Given the description of an element on the screen output the (x, y) to click on. 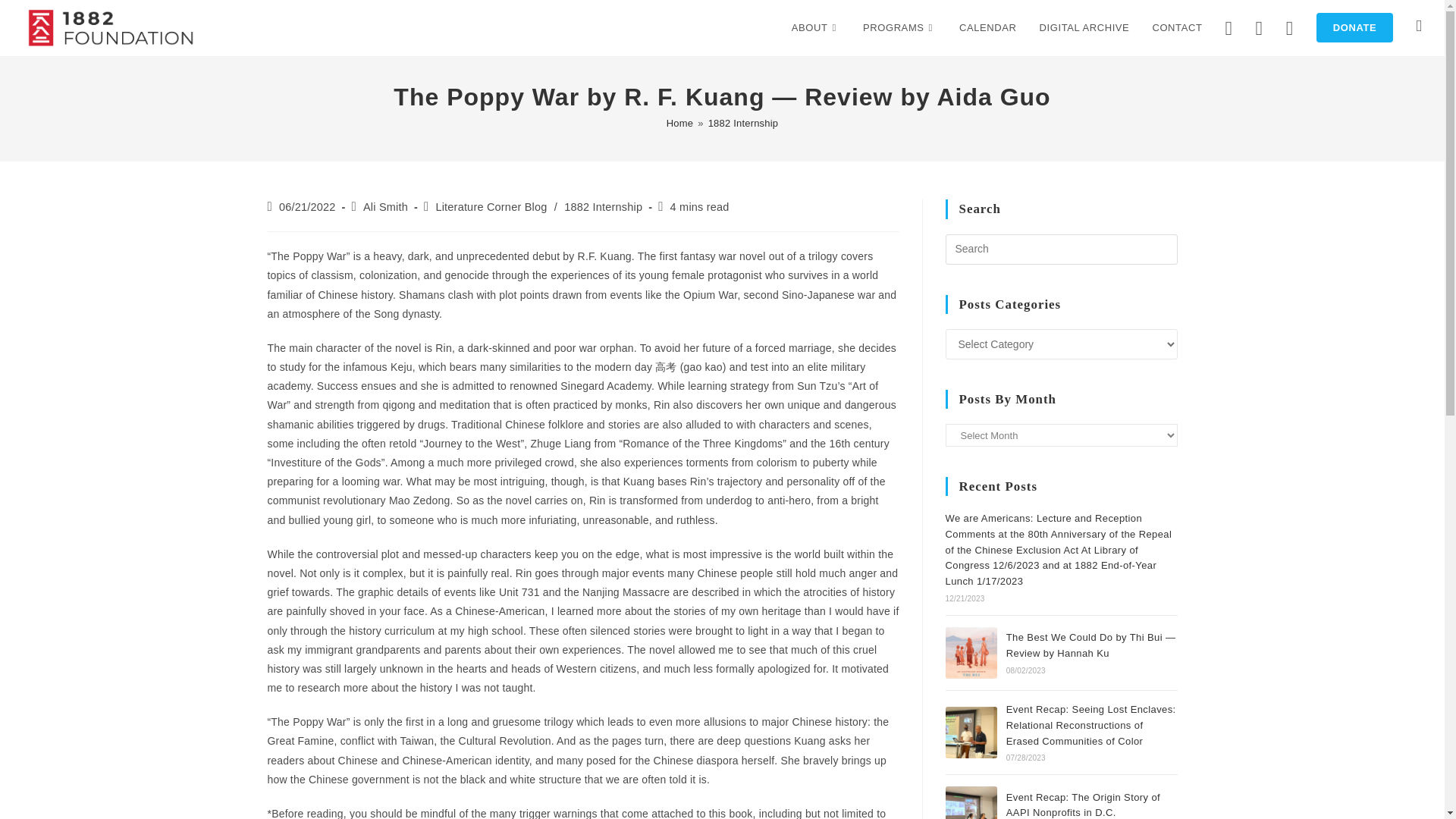
Posts by Ali Smith (384, 206)
CONTACT (1176, 28)
ABOUT (815, 28)
PROGRAMS (899, 28)
CALENDAR (987, 28)
DONATE (1354, 28)
Event Recap: The Origin Story of AAPI Nonprofits in D.C. (969, 802)
DIGITAL ARCHIVE (1084, 28)
